Given the description of an element on the screen output the (x, y) to click on. 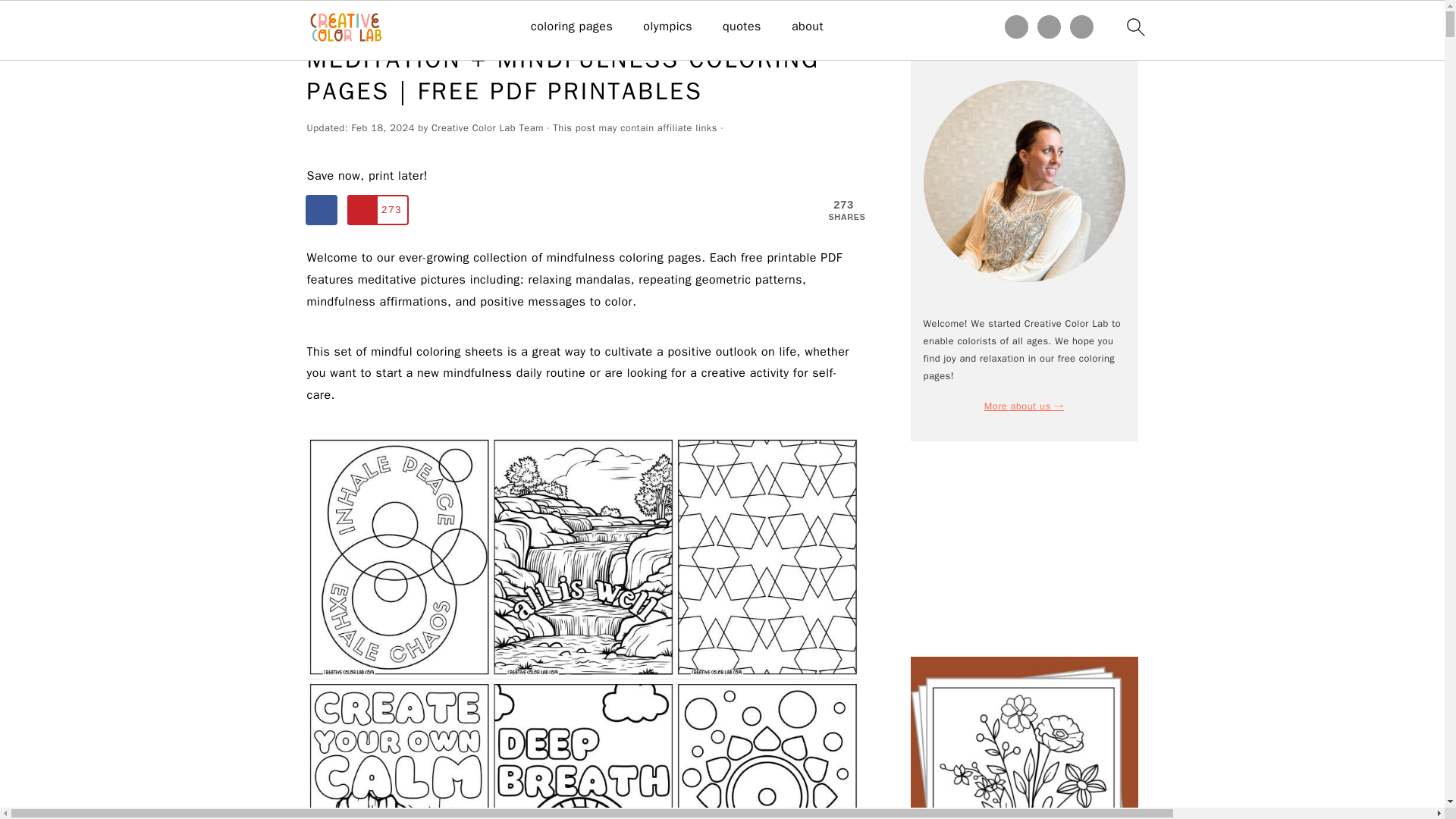
coloring pages (571, 26)
Coloring Pages (377, 23)
Save to Pinterest (378, 209)
273 (378, 209)
about (808, 26)
quotes (741, 26)
search icon (1135, 26)
Home (319, 23)
olympics (668, 26)
Share on Facebook (320, 209)
